Given the description of an element on the screen output the (x, y) to click on. 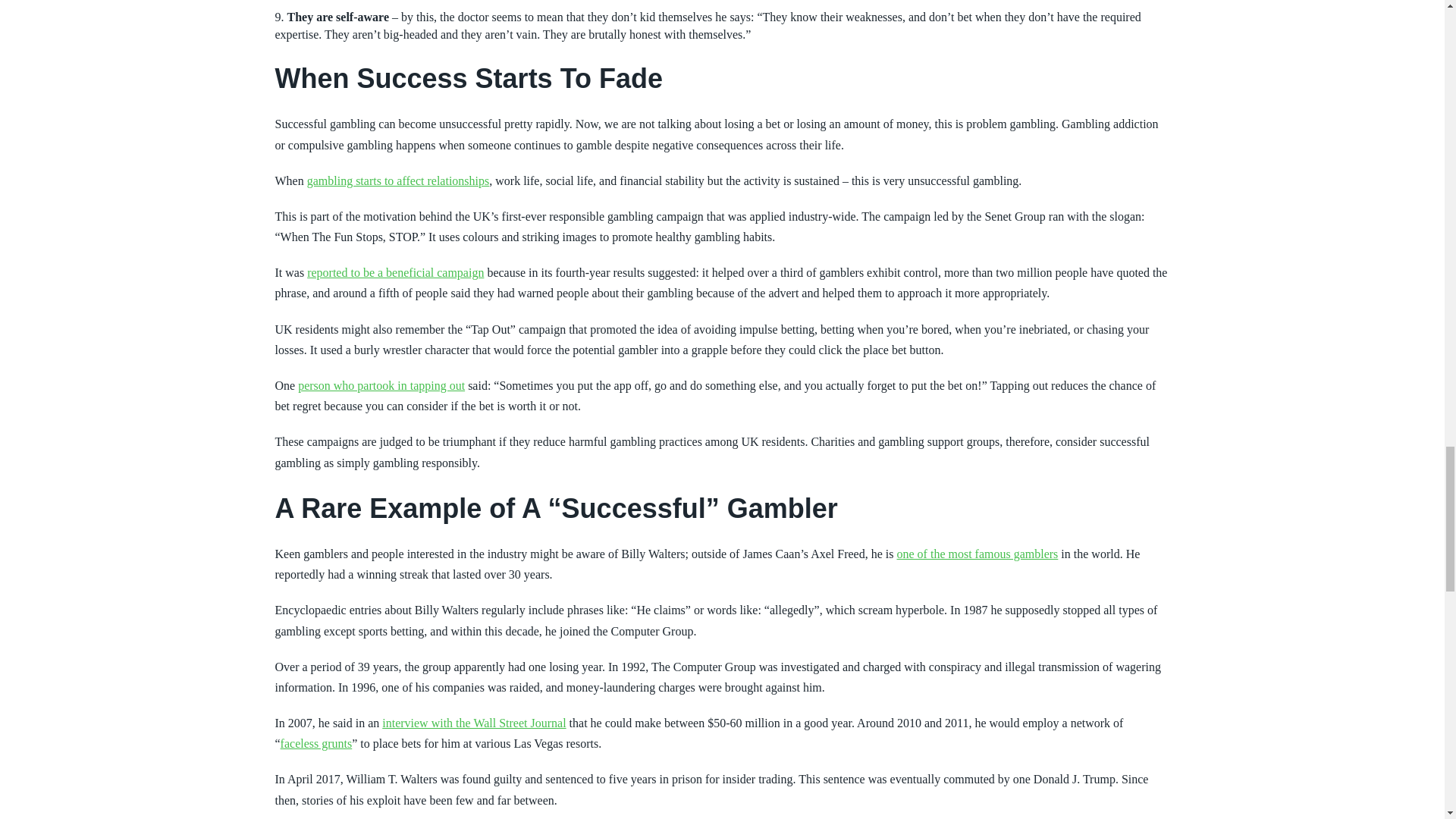
person who partook in tapping out (381, 385)
interview with the Wall Street Journal (473, 722)
reported to be a beneficial campaign (395, 272)
faceless grunts (316, 743)
one of the most famous gamblers (977, 553)
gambling starts to affect relationships (398, 180)
